Given the description of an element on the screen output the (x, y) to click on. 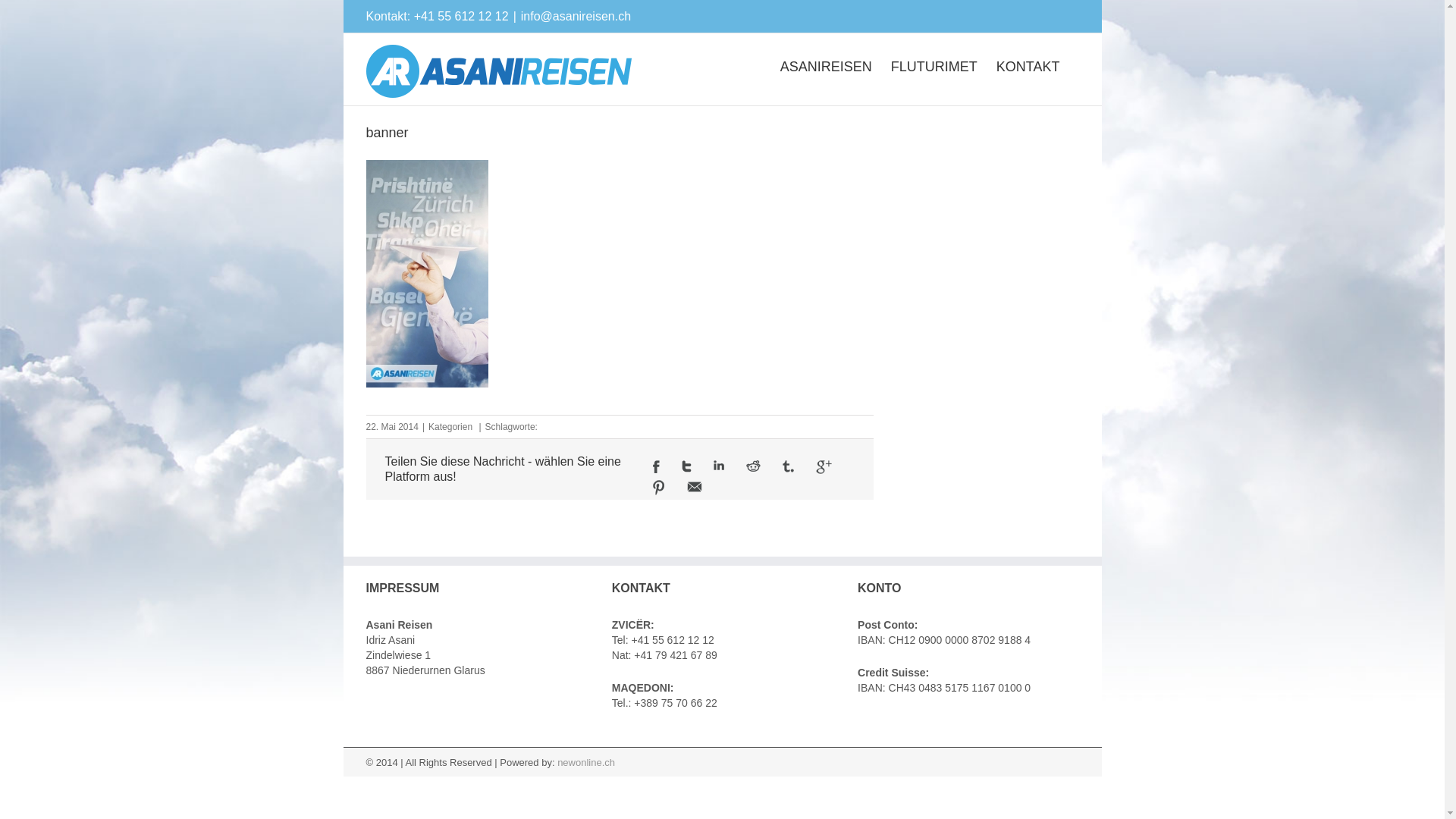
FLUTURIMET Element type: text (934, 65)
info@asanireisen.ch Element type: text (575, 15)
Email Element type: text (694, 486)
KONTAKT Element type: text (1028, 65)
Google +1 Element type: text (823, 466)
Facebook Element type: text (655, 466)
Reddit Element type: text (753, 465)
LinkedIn Element type: text (718, 465)
ASANIREISEN Element type: text (826, 65)
Twitter Element type: text (686, 466)
newonline.ch Element type: text (586, 762)
Tumblr Element type: text (787, 466)
Pinterest Element type: text (658, 487)
